Given the description of an element on the screen output the (x, y) to click on. 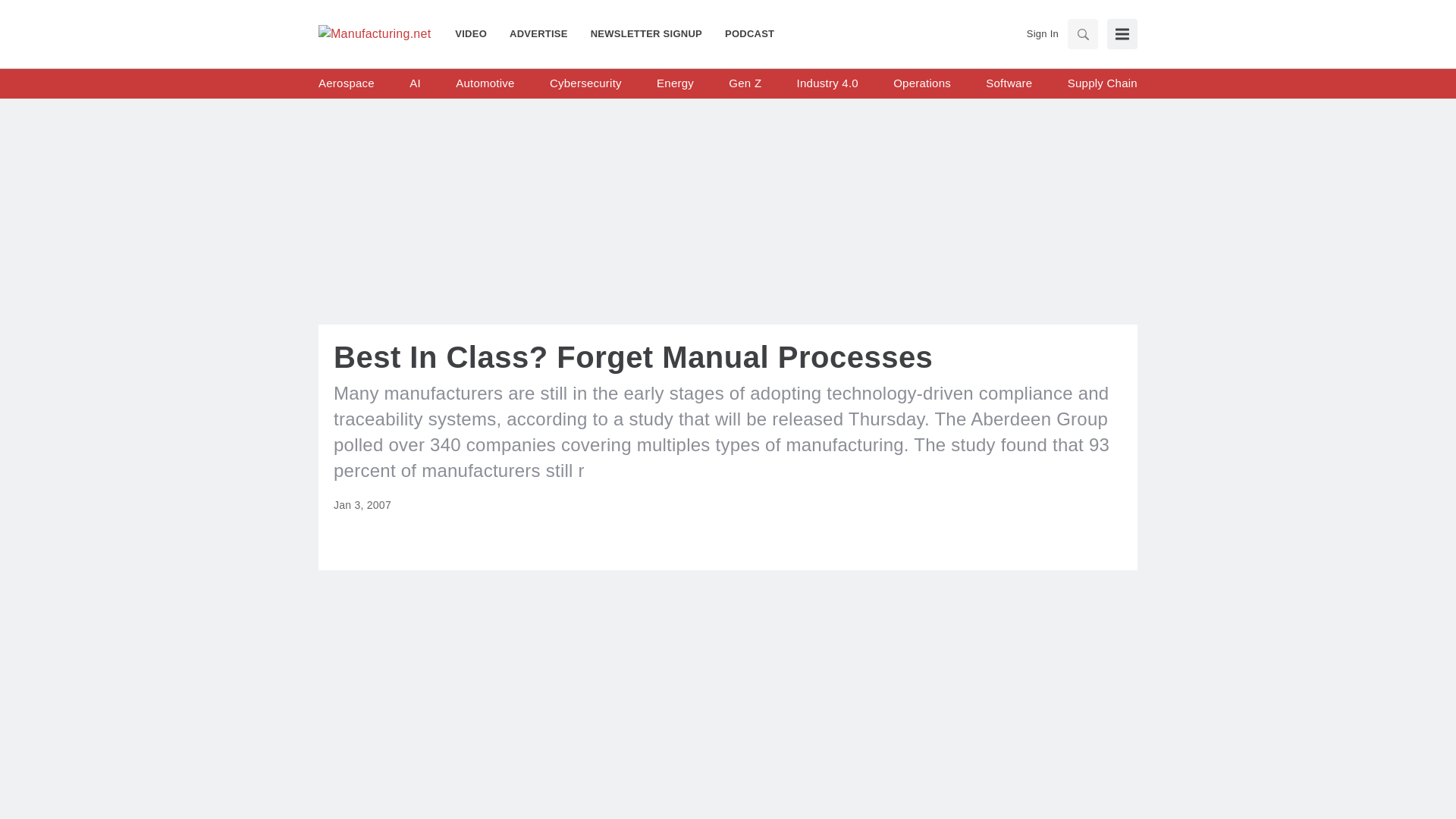
PODCAST (743, 33)
Operations (921, 83)
Gen Z (745, 83)
VIDEO (475, 33)
Industry 4.0 (827, 83)
Sign In (1042, 33)
Supply Chain (1102, 83)
Software (1008, 83)
NEWSLETTER SIGNUP (646, 33)
Energy (675, 83)
